Given the description of an element on the screen output the (x, y) to click on. 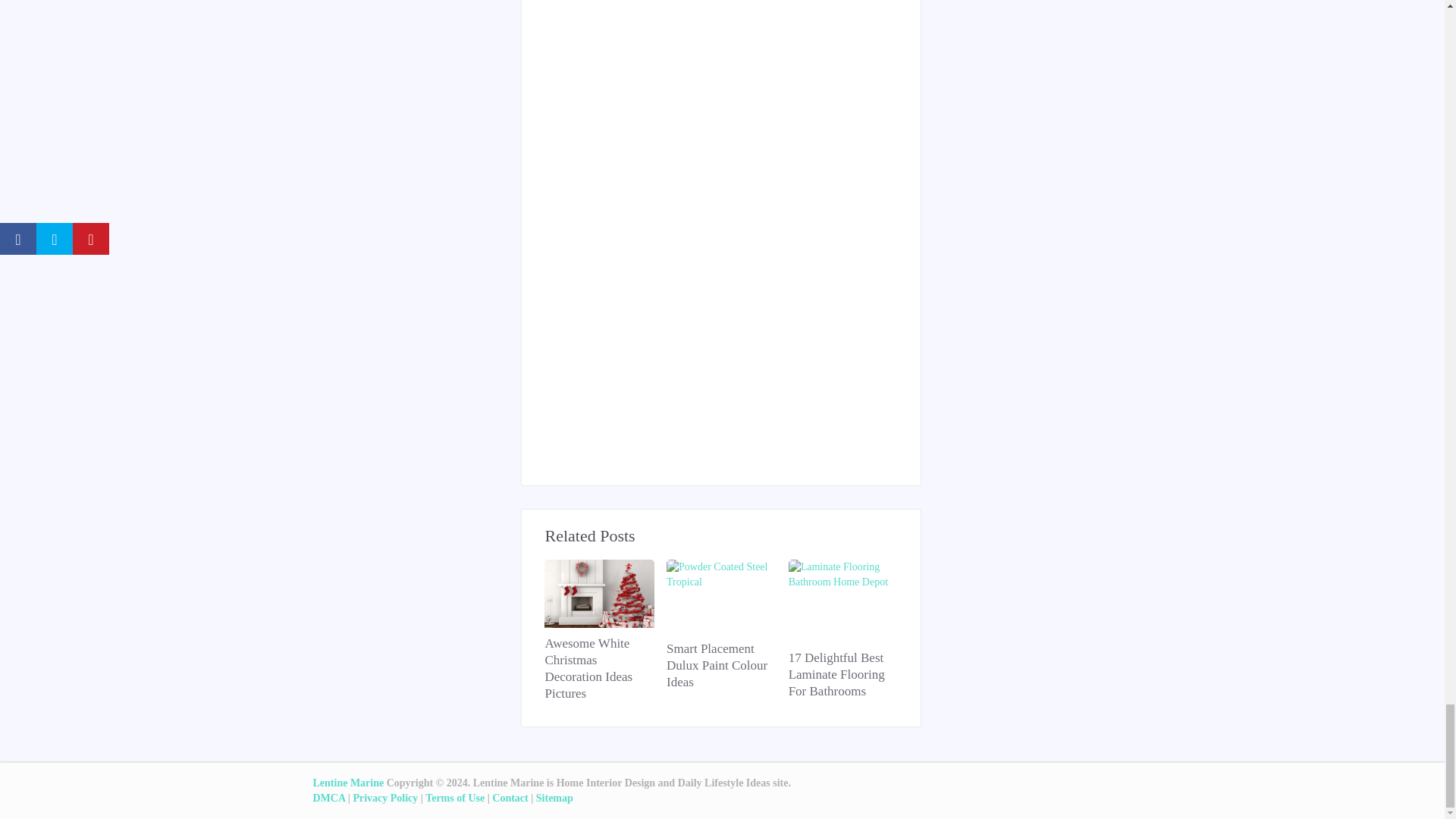
17 Delightful Best Laminate Flooring For Bathrooms (843, 675)
Smart Placement Dulux Paint Colour Ideas (721, 665)
Awesome White Christmas Decoration Ideas Pictures (598, 668)
